Given the description of an element on the screen output the (x, y) to click on. 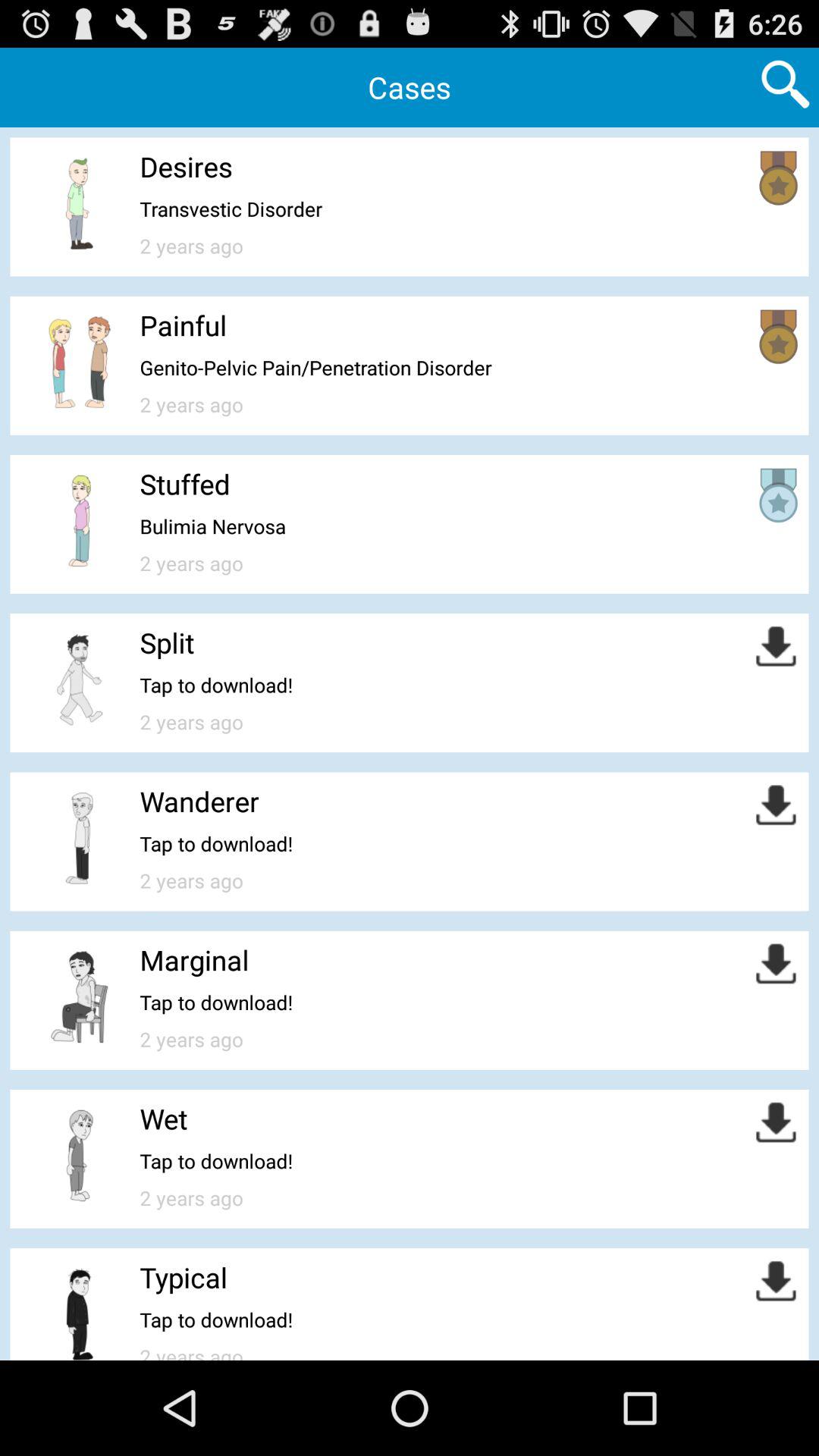
select the image which is before the painful (80, 362)
